Given the description of an element on the screen output the (x, y) to click on. 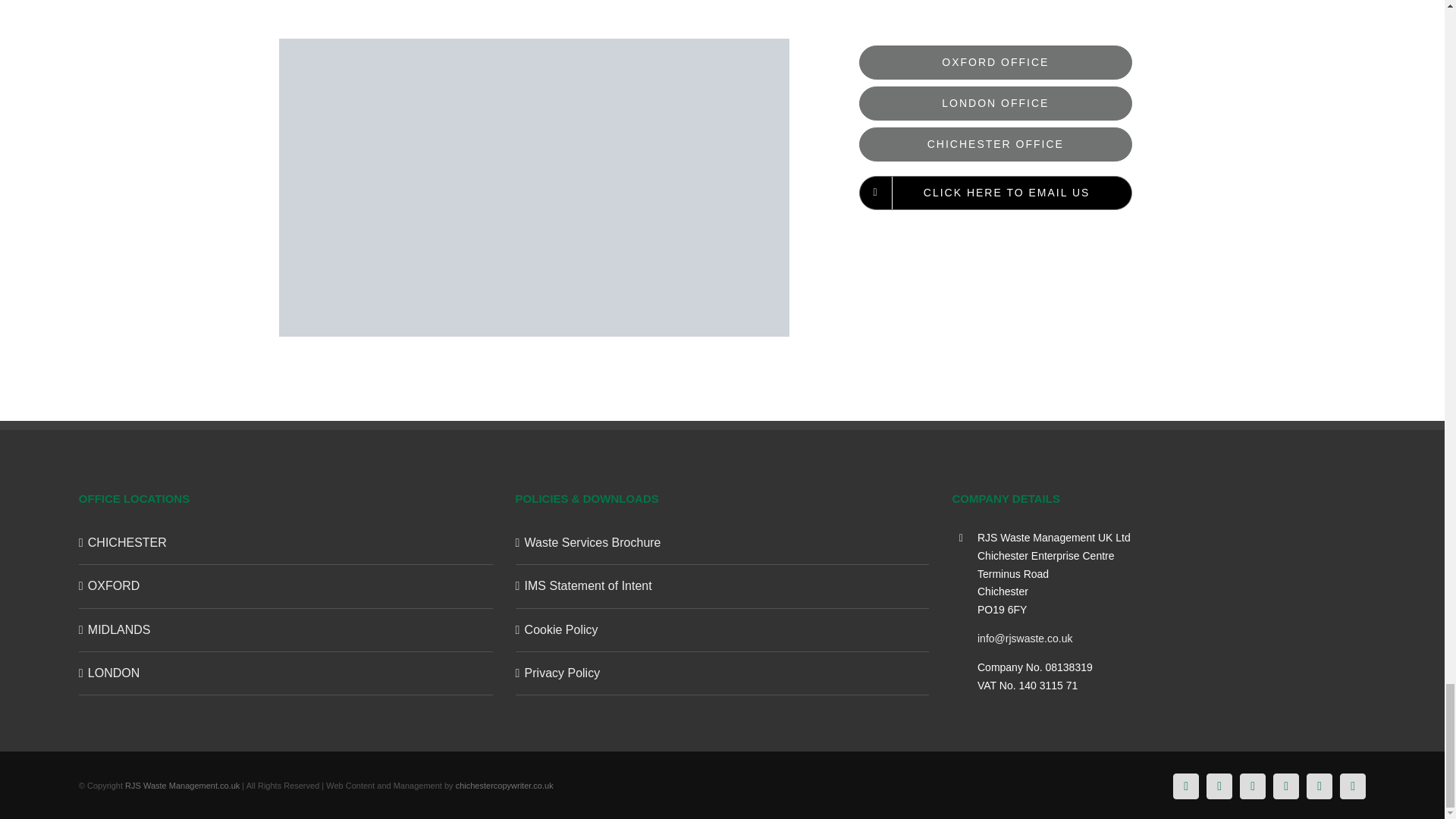
Instagram (1285, 786)
Tiktok (1319, 786)
Facebook (1185, 786)
X (1219, 786)
LinkedIn (1252, 786)
Email (1352, 786)
